Given the description of an element on the screen output the (x, y) to click on. 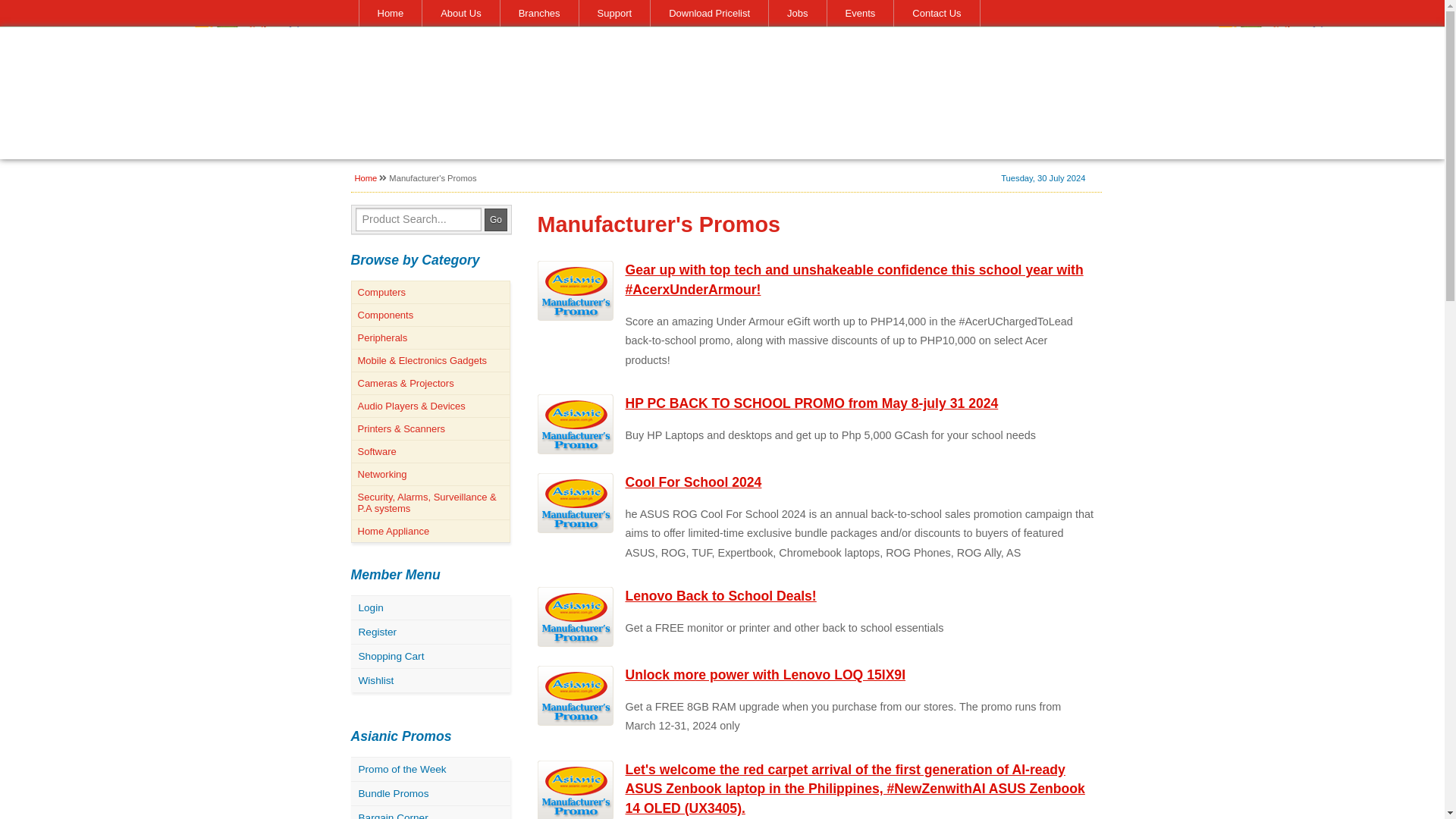
Download Pricelist (708, 13)
Components (429, 314)
Home (390, 13)
About Us (460, 13)
Go (495, 219)
Go (495, 219)
Go (495, 219)
Product Search... (417, 219)
Branches (538, 13)
Events (860, 13)
Jobs (796, 13)
Computers (429, 291)
Product Search... (417, 219)
Contact Us (936, 13)
Support (614, 13)
